Given the description of an element on the screen output the (x, y) to click on. 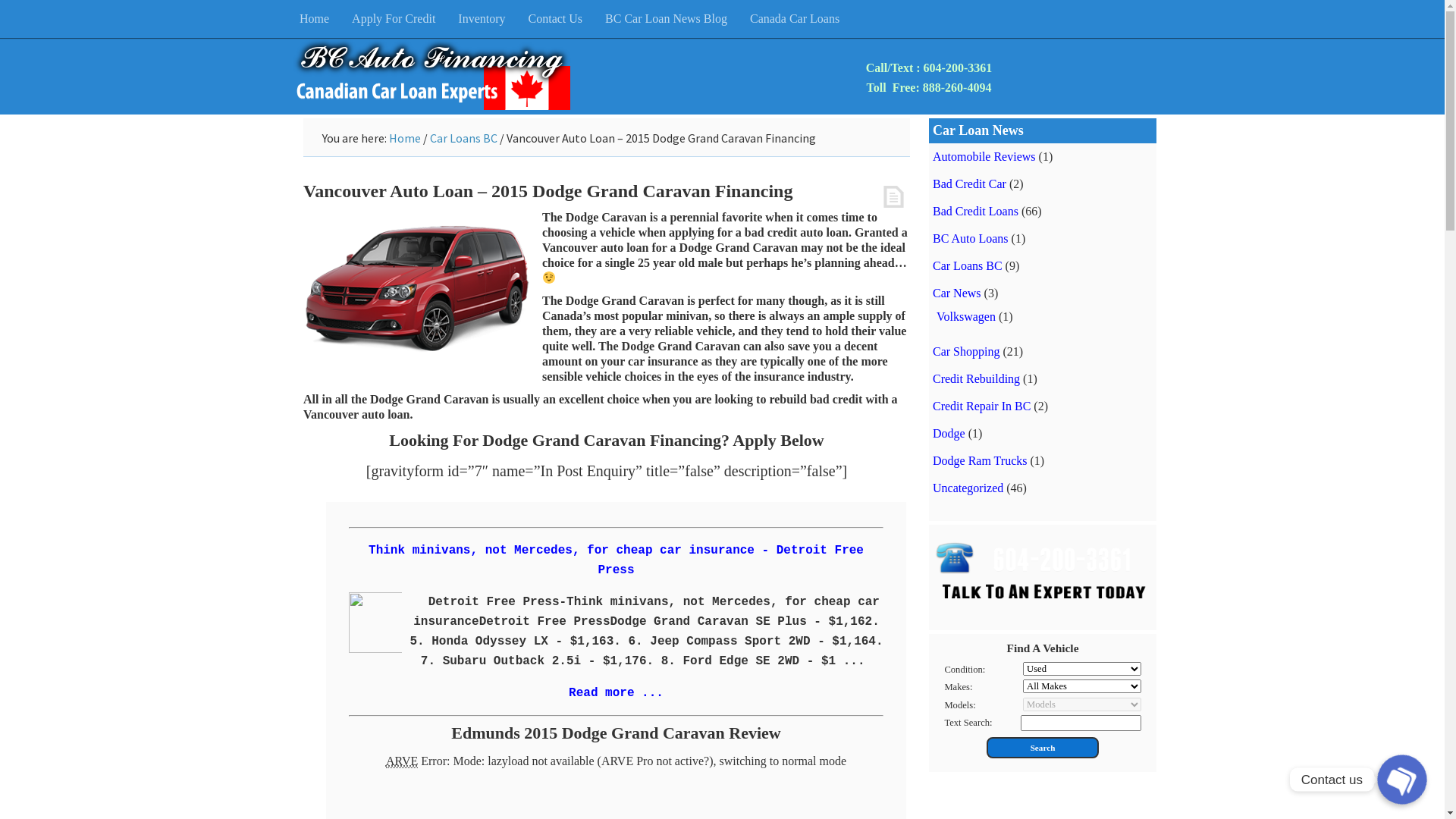
Inventory Element type: text (481, 18)
Credit Repair In BC Element type: text (981, 404)
Car Shopping Element type: text (965, 350)
BC Auto Loans Element type: text (970, 238)
Apply For Credit Element type: text (393, 18)
Contact Us Element type: text (555, 18)
Skip to primary navigation Element type: text (0, 0)
Automobile Reviews Element type: text (983, 156)
Read more ... Element type: text (615, 692)
Call/Text : 604-200-3361 Element type: text (929, 67)
Bad Credit Loans Element type: text (975, 210)
Car Loans BC Element type: text (967, 265)
Uncategorized Element type: text (967, 486)
Bad Credit Car Loans BC Element type: hover (1042, 567)
BC Auto Financing & Bad Credit Car Loans BC Element type: text (432, 76)
Dodge Element type: text (948, 432)
Toll  Free: 888-260-4094 Element type: text (928, 87)
Canada Car Loans Element type: text (794, 18)
Home Element type: text (404, 137)
Car Loans BC Element type: text (463, 137)
Dodge Ram Trucks Element type: text (979, 459)
Volkswagen Element type: text (965, 315)
Car News Element type: text (956, 292)
Home Element type: text (314, 18)
Bad Credit Car Element type: text (969, 183)
Credit Rebuilding Element type: text (975, 377)
BC Car Loan News Blog Element type: text (665, 18)
